Given the description of an element on the screen output the (x, y) to click on. 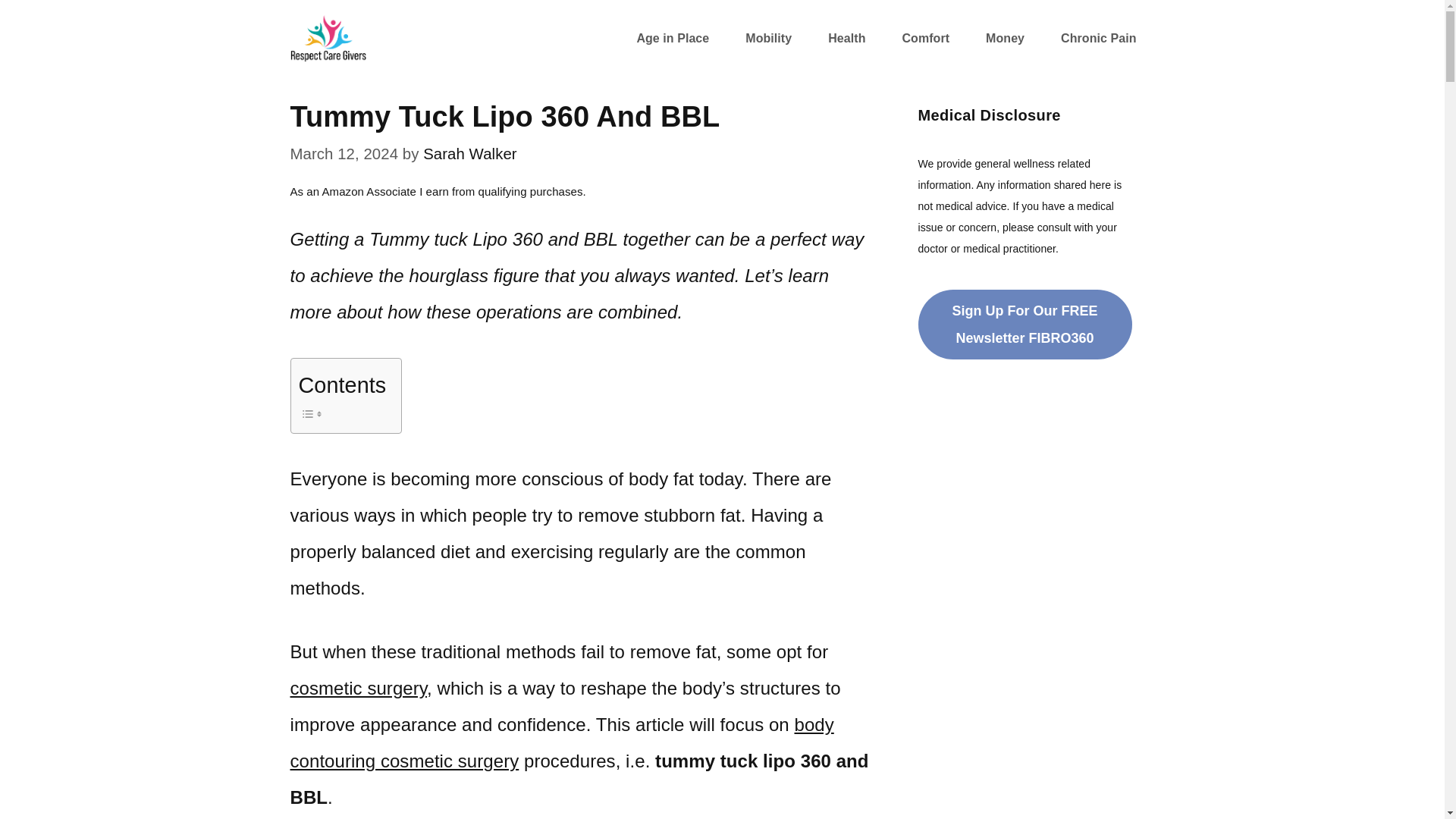
Comfort (925, 38)
Money (1005, 38)
Chronic Pain (1098, 38)
Age in Place (671, 38)
Sarah Walker (469, 153)
View all posts by Sarah Walker (469, 153)
Mobility (767, 38)
cosmetic surgery (357, 688)
Health (846, 38)
body contouring cosmetic surgery (560, 742)
